Given the description of an element on the screen output the (x, y) to click on. 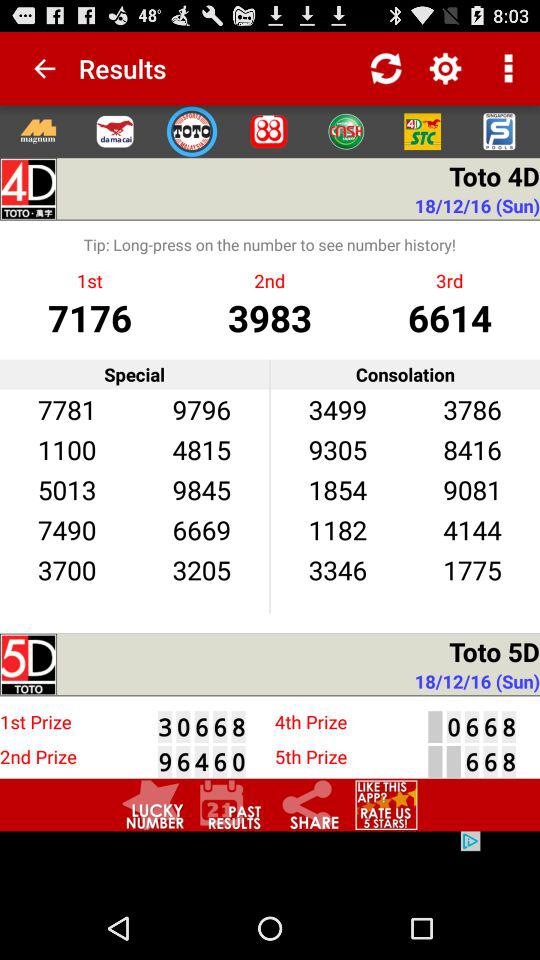
a standard button for sharing with others (308, 804)
